Given the description of an element on the screen output the (x, y) to click on. 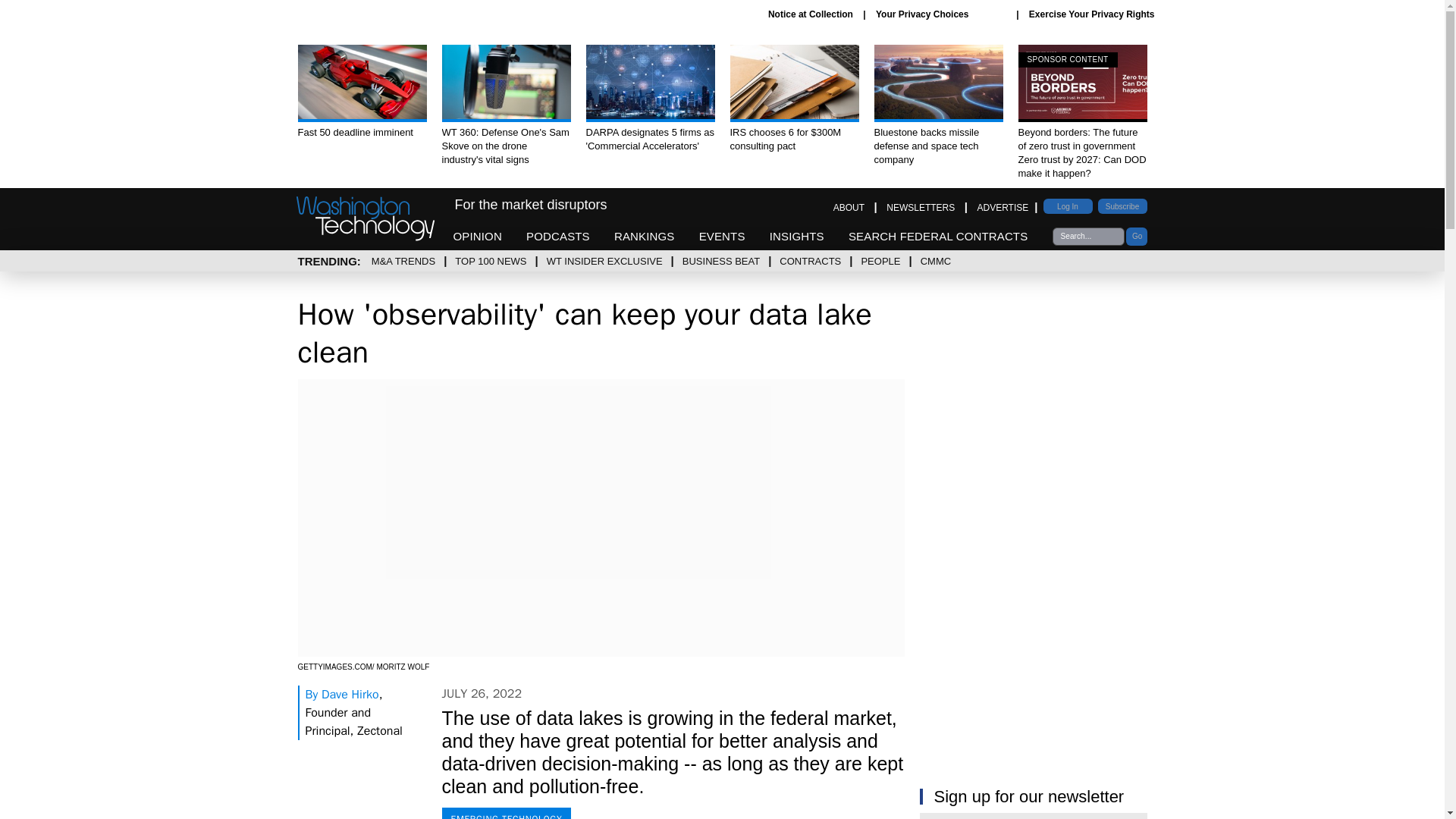
Exercise Your Privacy Rights (1091, 14)
NEWSLETTERS (920, 207)
Your Privacy Choices (941, 14)
INSIGHTS (797, 236)
PODCASTS (557, 236)
OPINION (477, 236)
ABOUT (848, 207)
DARPA designates 5 firms as 'Commercial Accelerators' (649, 99)
ADVERTISE (1001, 207)
